Given the description of an element on the screen output the (x, y) to click on. 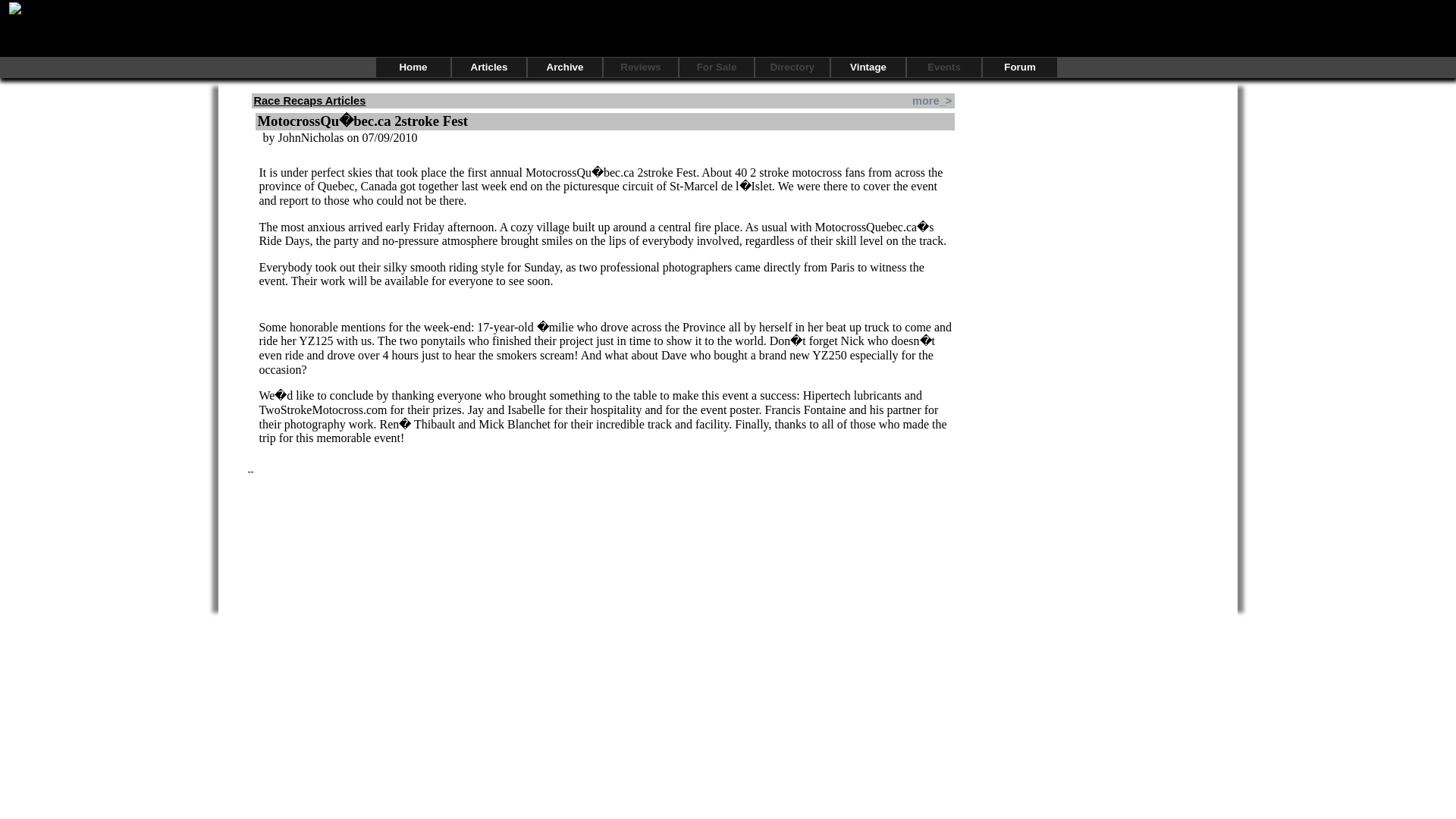
Archive (564, 66)
For Sale (716, 66)
Home (412, 66)
Vintage (868, 66)
Directory (792, 66)
Events (944, 66)
Reviews (641, 66)
Articles (488, 66)
Forum (1019, 66)
